Given the description of an element on the screen output the (x, y) to click on. 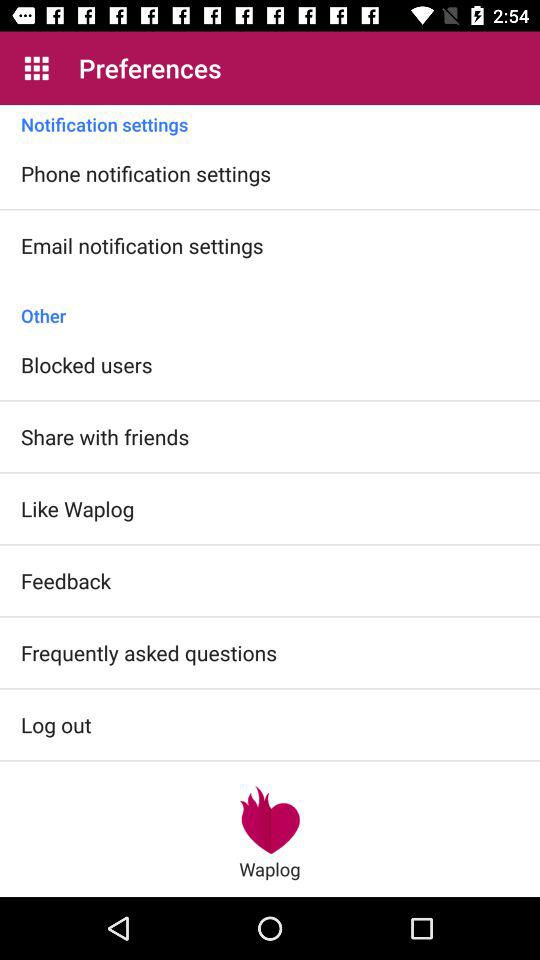
launch icon below frequently asked questions icon (56, 724)
